Given the description of an element on the screen output the (x, y) to click on. 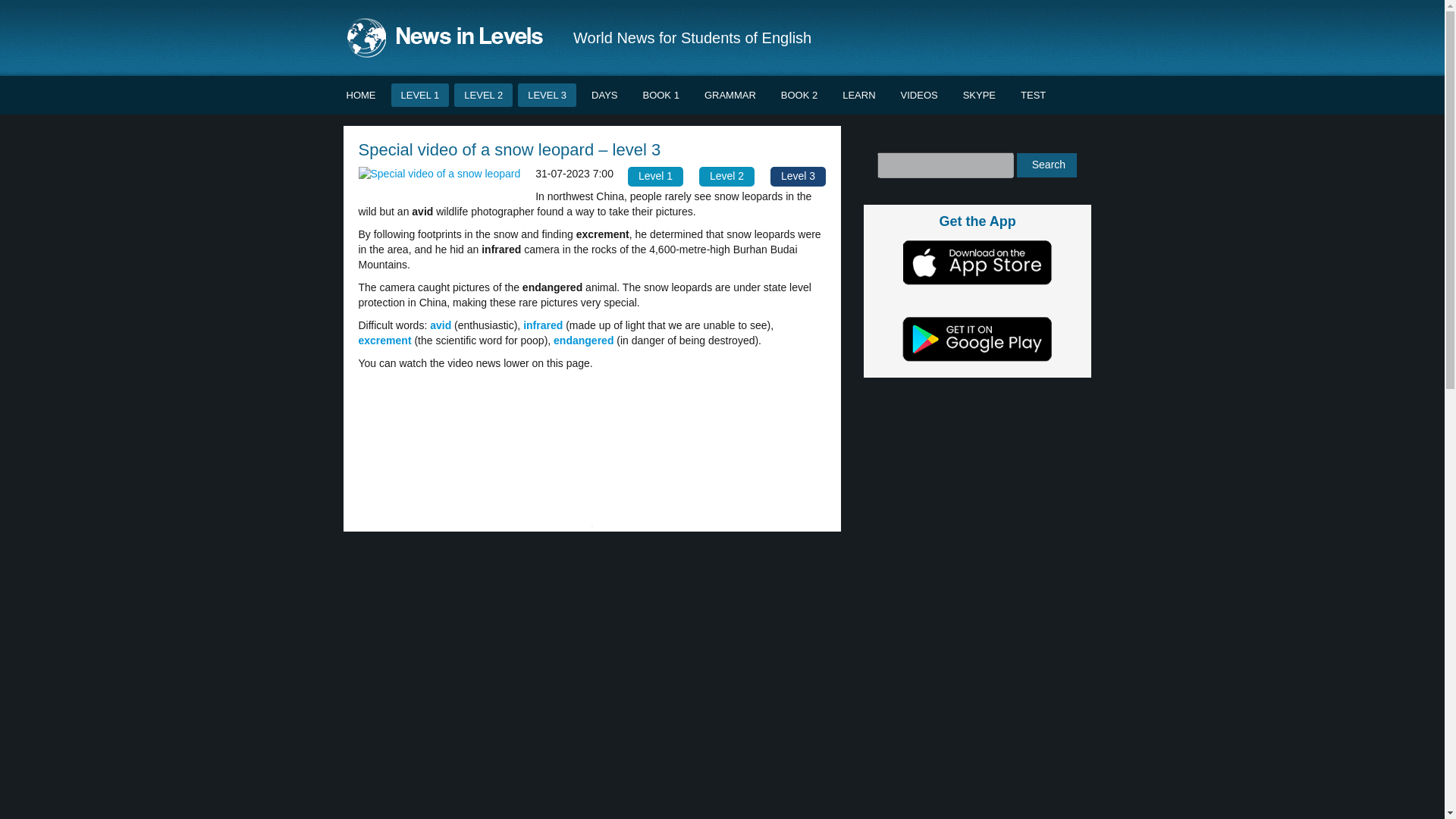
GRAMMAR (729, 95)
BOOK 2 (799, 95)
SKYPE (979, 95)
TEST (1032, 95)
VIDEOS (919, 95)
LEVEL 1 (420, 95)
LEVEL 2 (483, 95)
LEVEL 3 (547, 95)
HOME (360, 95)
LEARN (858, 95)
DAYS (603, 95)
Level 1 (654, 176)
BOOK 1 (659, 95)
Search (1046, 165)
